Given the description of an element on the screen output the (x, y) to click on. 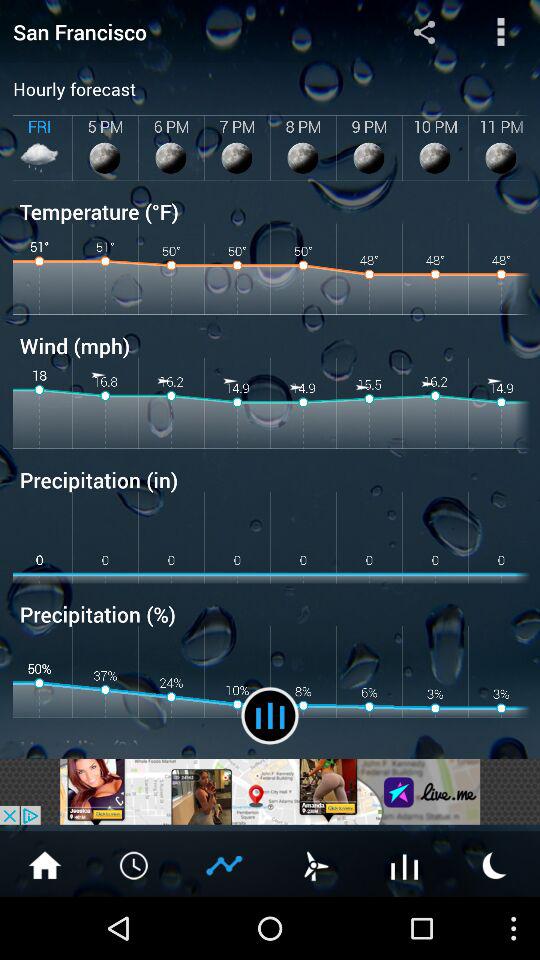
it shows main menu (500, 31)
